Given the description of an element on the screen output the (x, y) to click on. 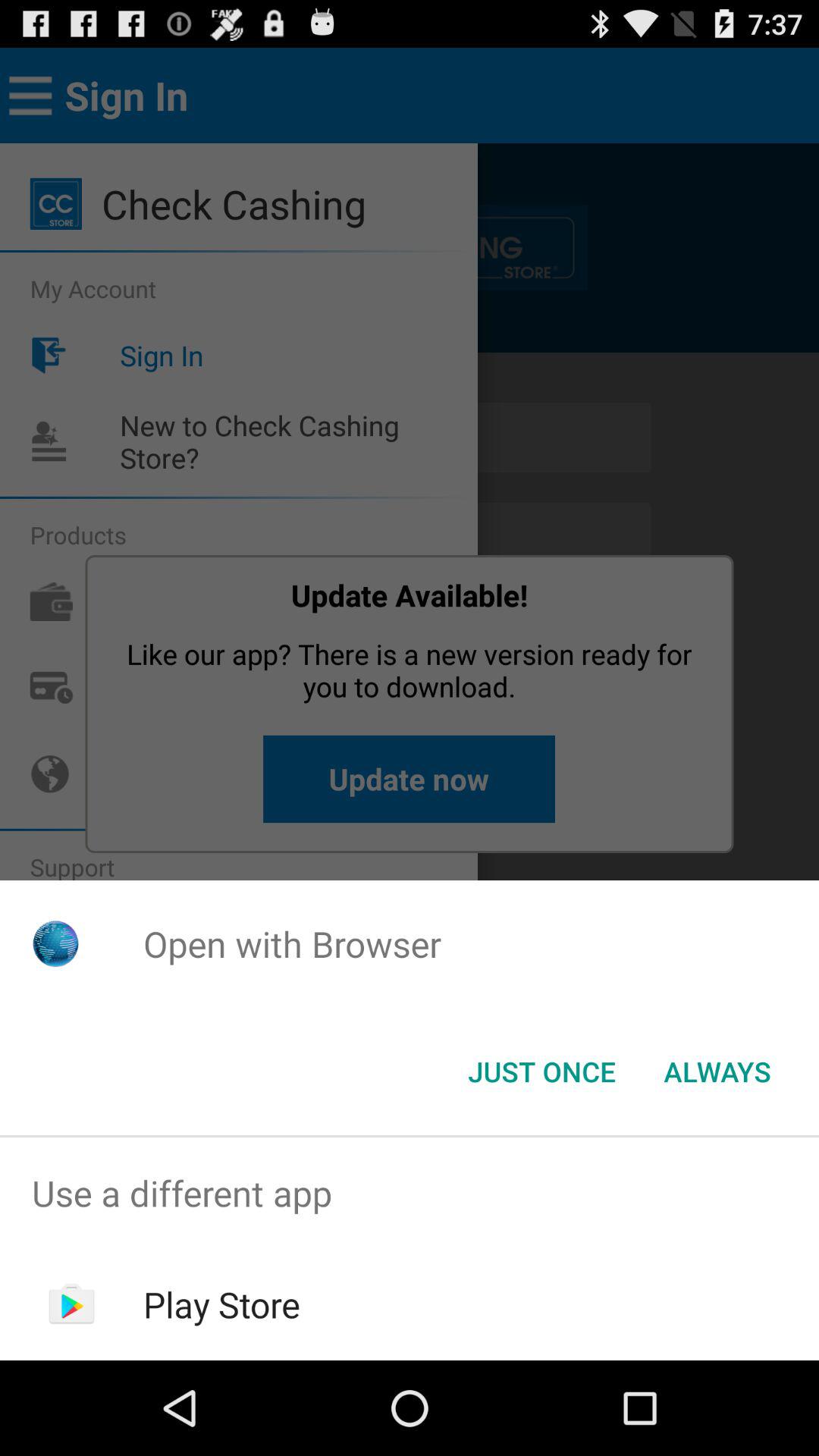
choose the button to the right of the just once button (717, 1071)
